Given the description of an element on the screen output the (x, y) to click on. 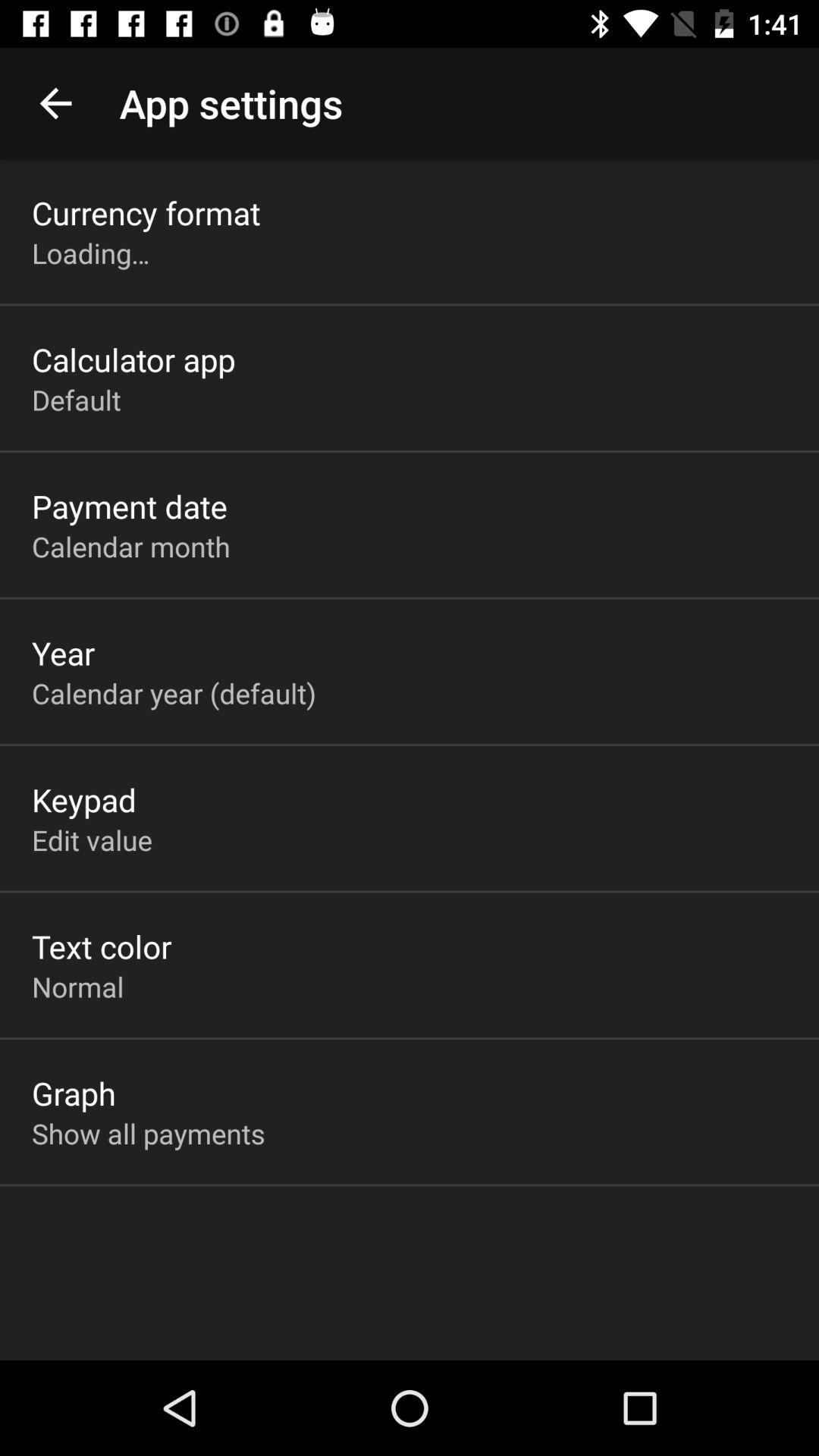
launch app below the keypad item (91, 839)
